Given the description of an element on the screen output the (x, y) to click on. 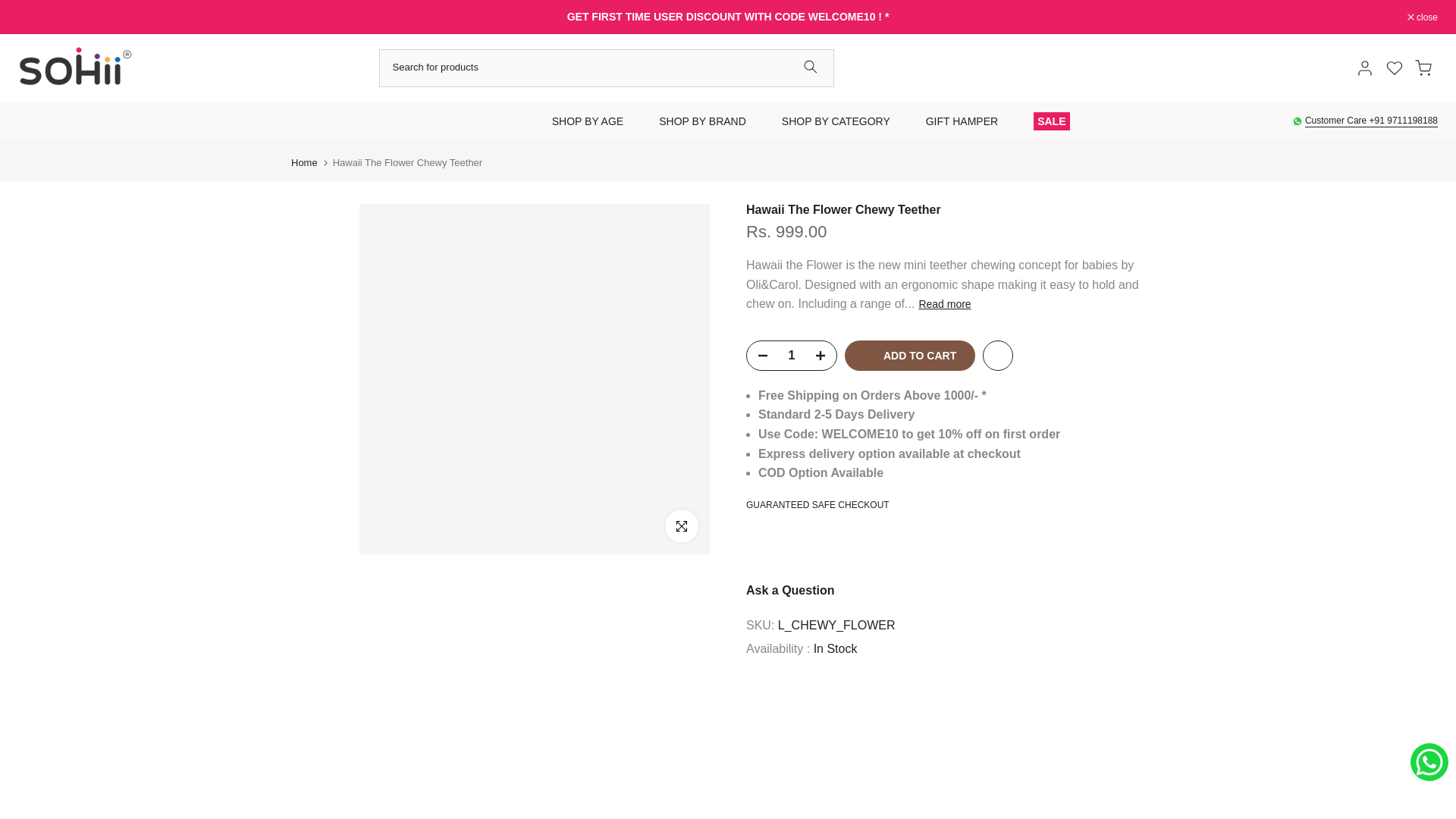
Skip to content (10, 7)
ADD TO CART (909, 355)
SHOP BY CATEGORY (840, 121)
Home (304, 162)
SHOP BY BRAND (707, 121)
1 (791, 355)
SALE (1051, 121)
GIFT HAMPER (966, 121)
close (1422, 16)
Read more (944, 304)
